Given the description of an element on the screen output the (x, y) to click on. 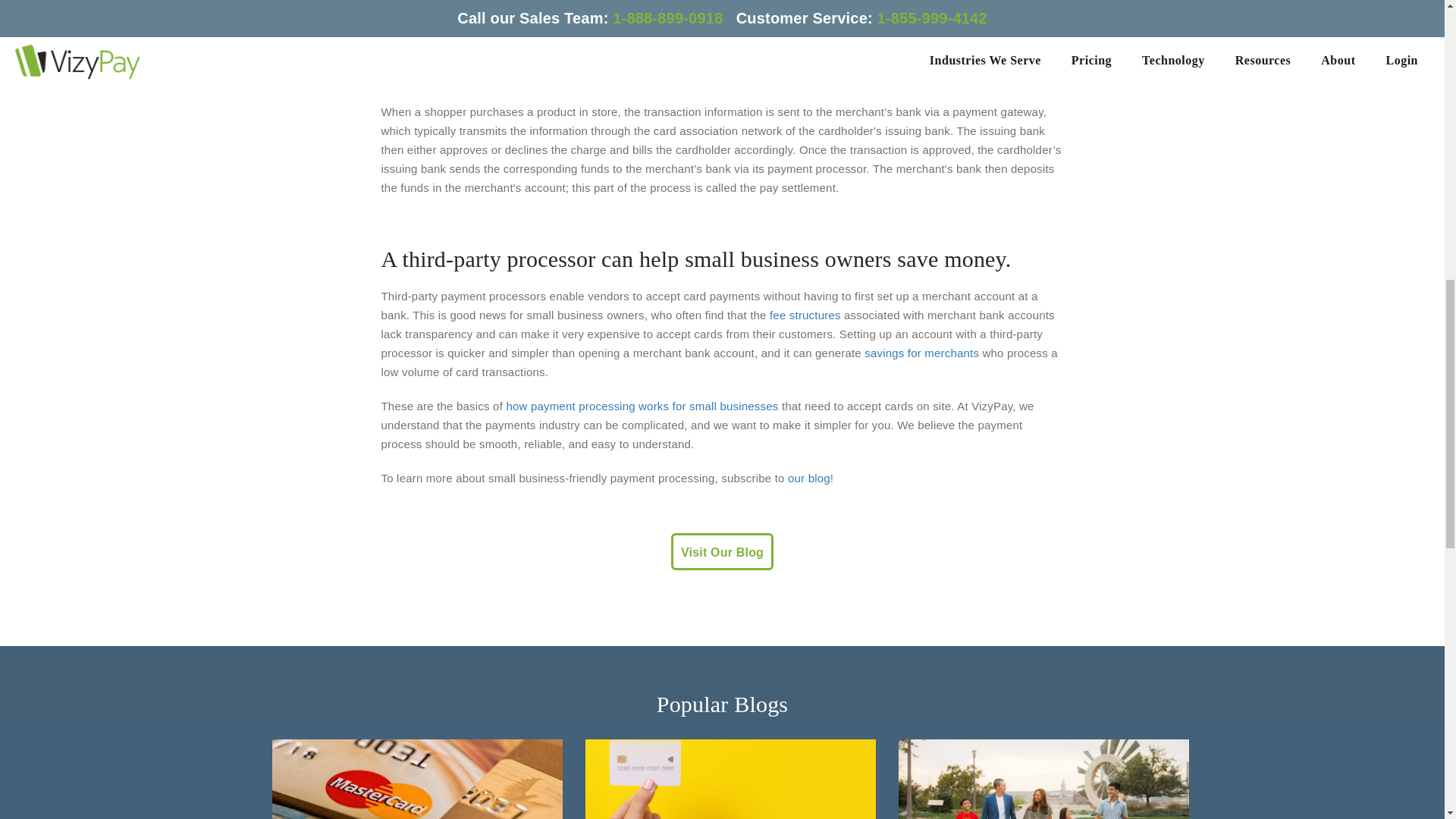
Visit Our Blog (722, 551)
Visit Our Blog (722, 551)
savings for merchants (921, 352)
how payment processing works for small businesses (641, 405)
fee structures (805, 314)
our blog (808, 477)
